Given the description of an element on the screen output the (x, y) to click on. 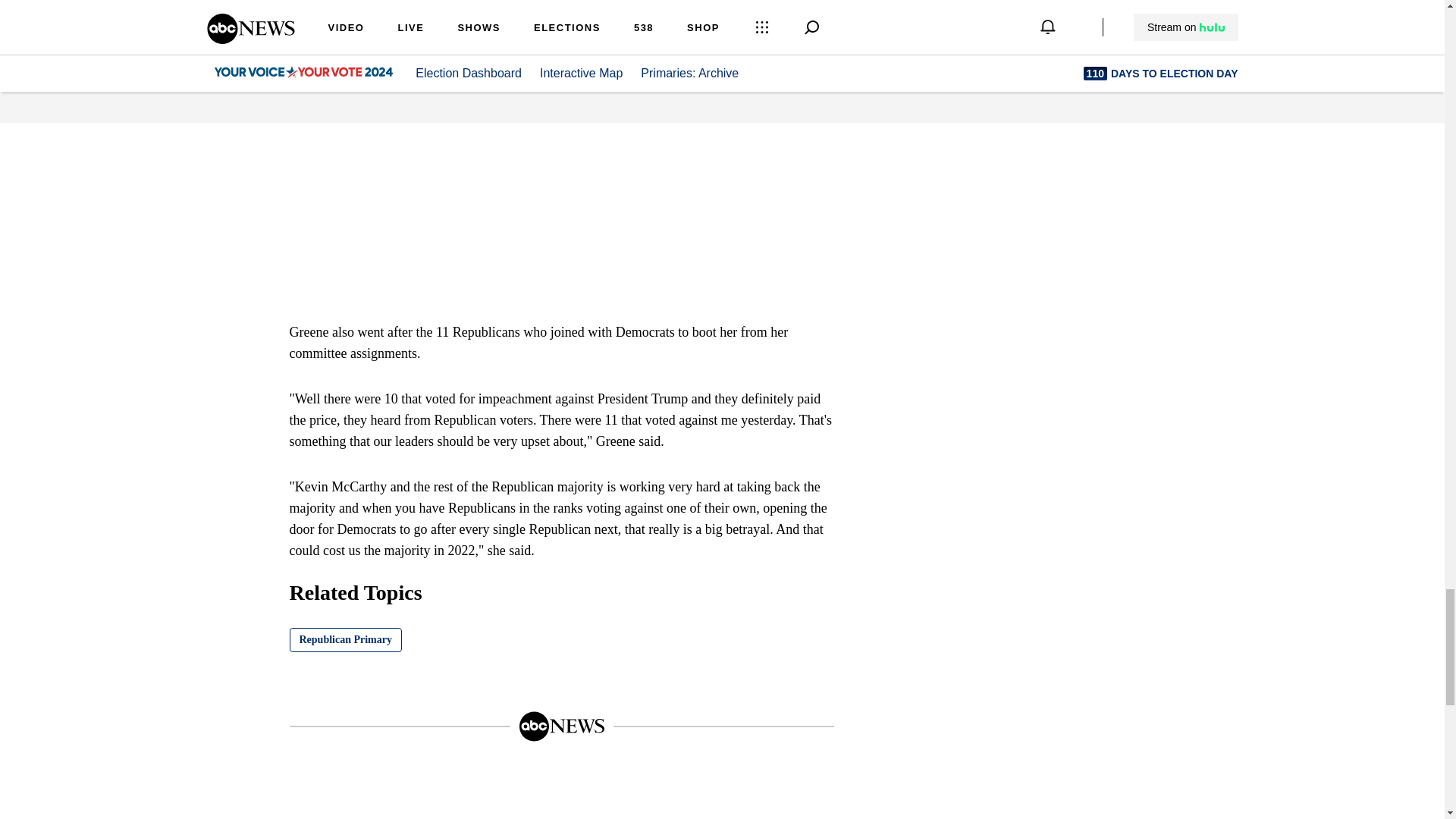
Republican Primary (346, 639)
